Given the description of an element on the screen output the (x, y) to click on. 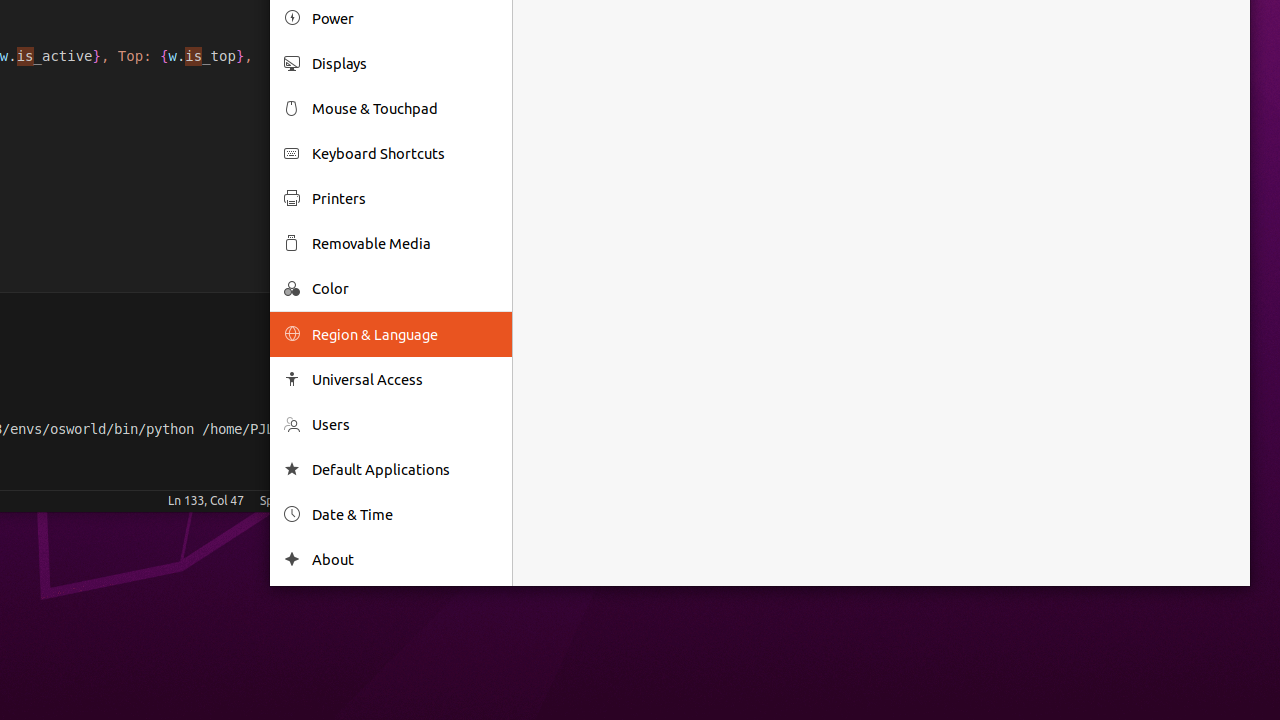
Displays Element type: label (405, 63)
Date & Time Element type: label (405, 514)
About Element type: icon (292, 559)
Mouse & Touchpad Element type: label (405, 108)
Universal Access Element type: label (405, 379)
